Given the description of an element on the screen output the (x, y) to click on. 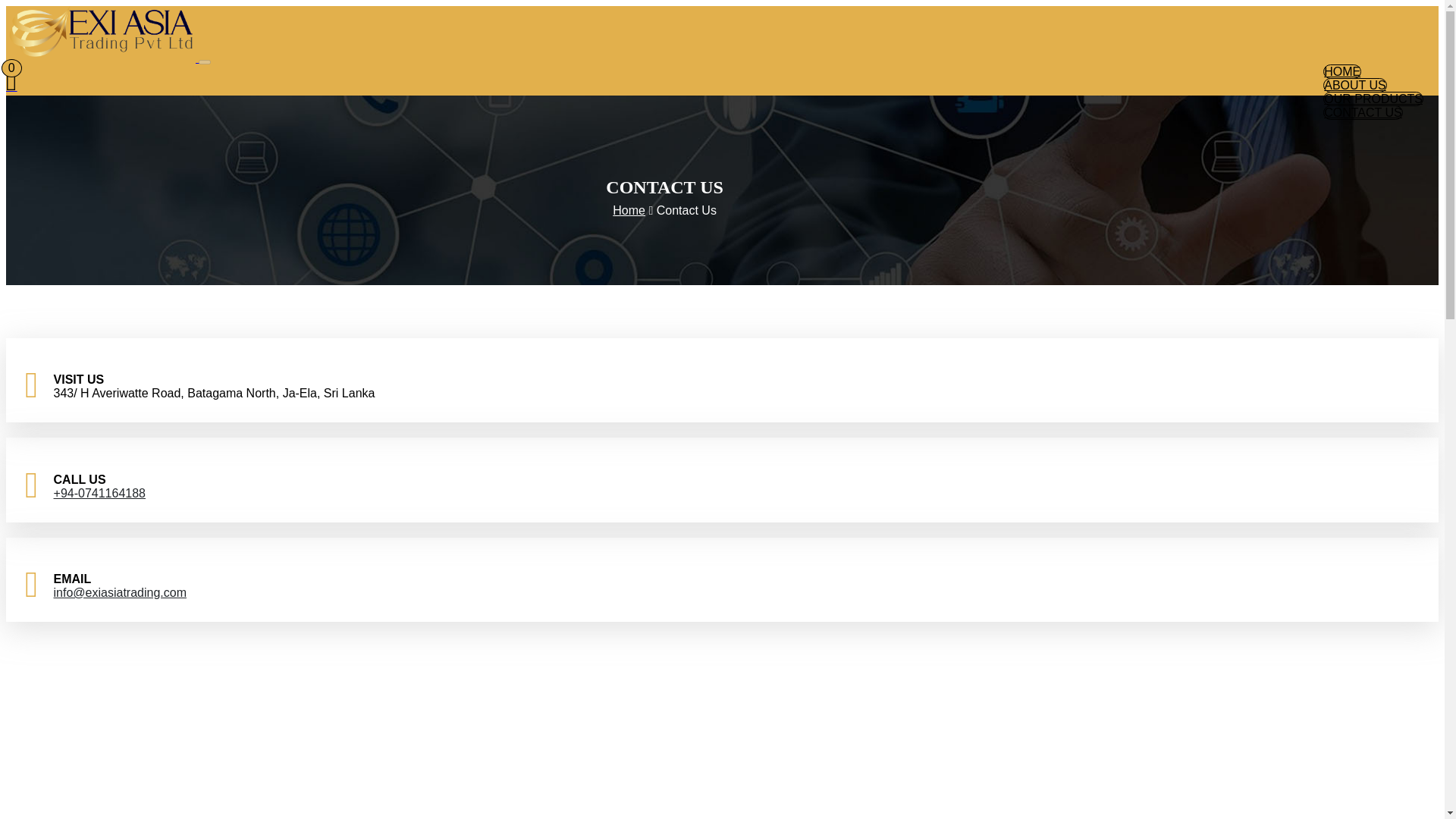
CONTACT US (1363, 112)
OUR PRODUCTS (1373, 98)
Home (628, 210)
